Given the description of an element on the screen output the (x, y) to click on. 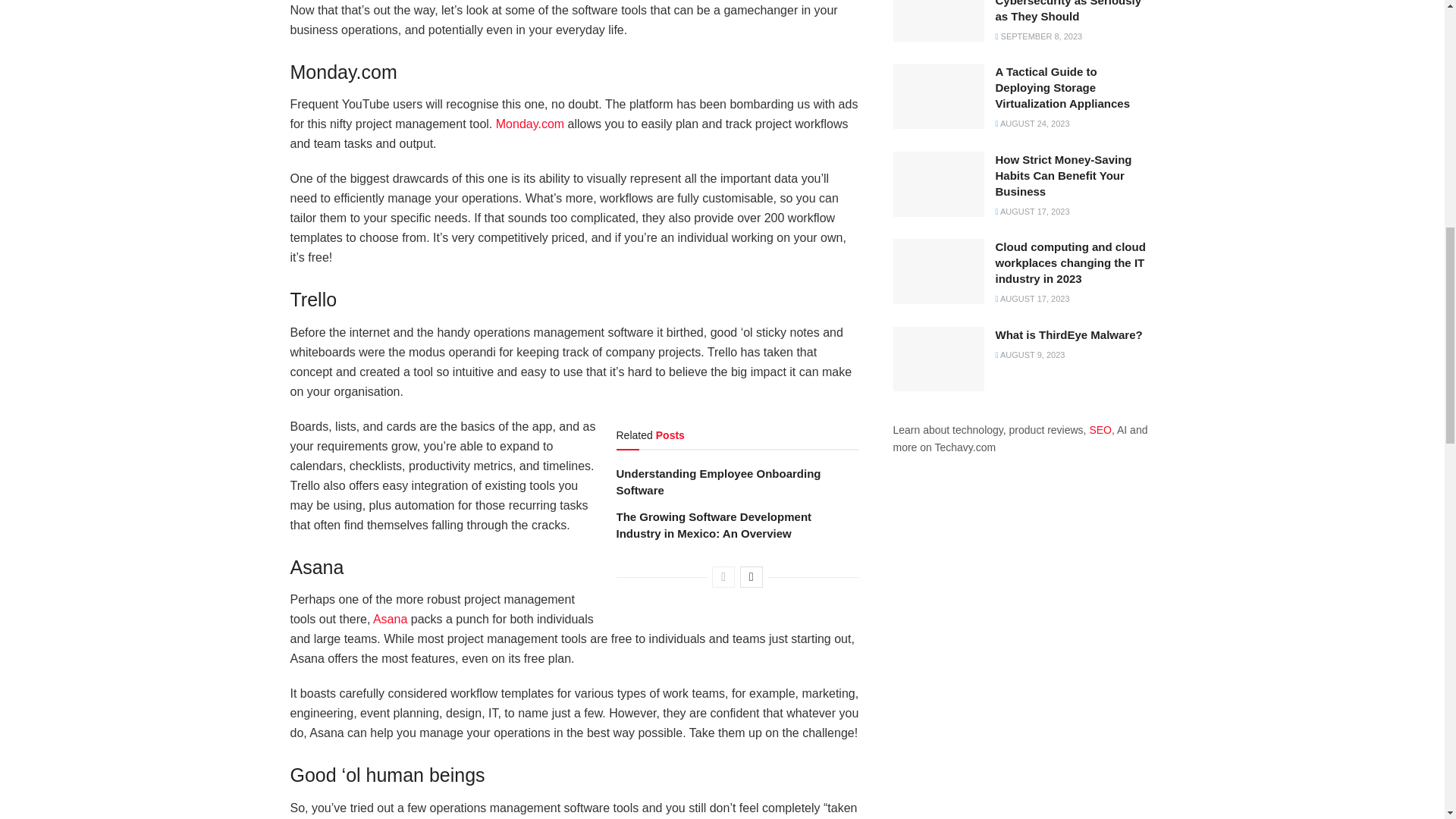
Next (750, 577)
Previous (723, 577)
